Given the description of an element on the screen output the (x, y) to click on. 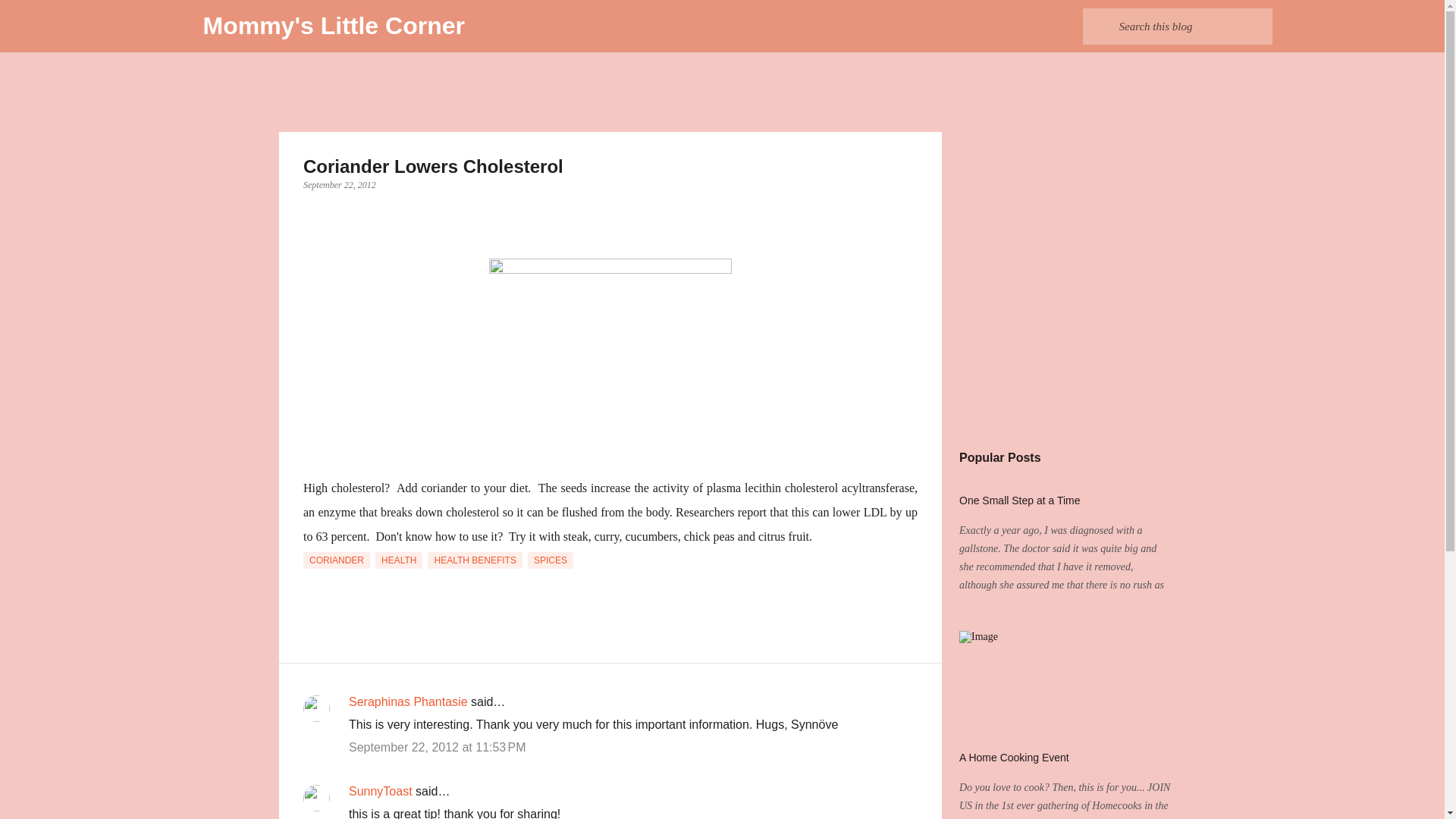
Seraphinas Phantasie (408, 701)
SunnyToast (380, 790)
SPICES (550, 560)
One Small Step at a Time (1019, 500)
A Home Cooking Event (1013, 757)
September 22, 2012 (338, 184)
HEALTH (398, 560)
Mommy's Little Corner (333, 25)
HEALTH BENEFITS (474, 560)
CORIANDER (335, 560)
permanent link (338, 184)
comment permalink (437, 747)
